Given the description of an element on the screen output the (x, y) to click on. 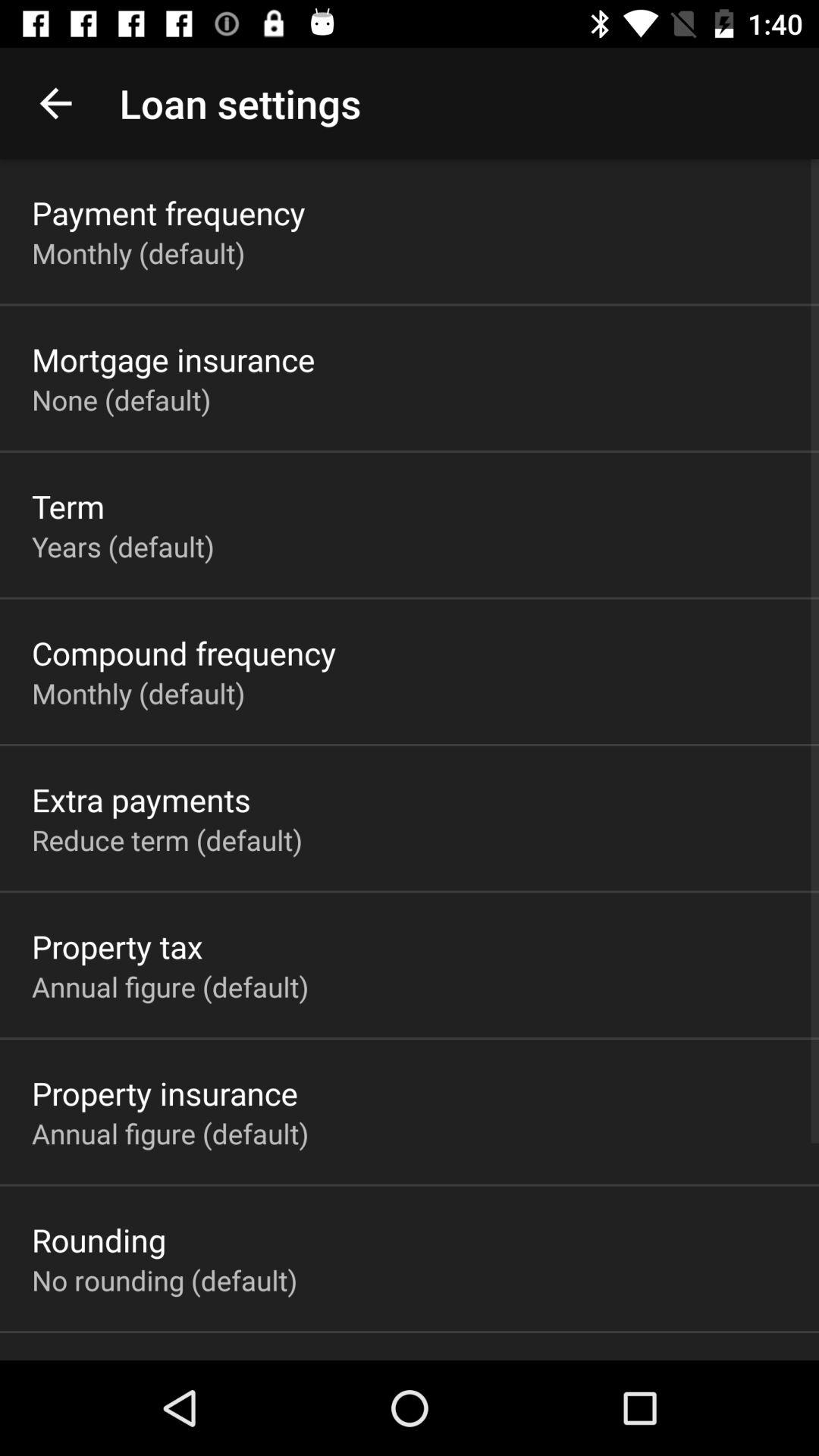
choose compound frequency (183, 652)
